Given the description of an element on the screen output the (x, y) to click on. 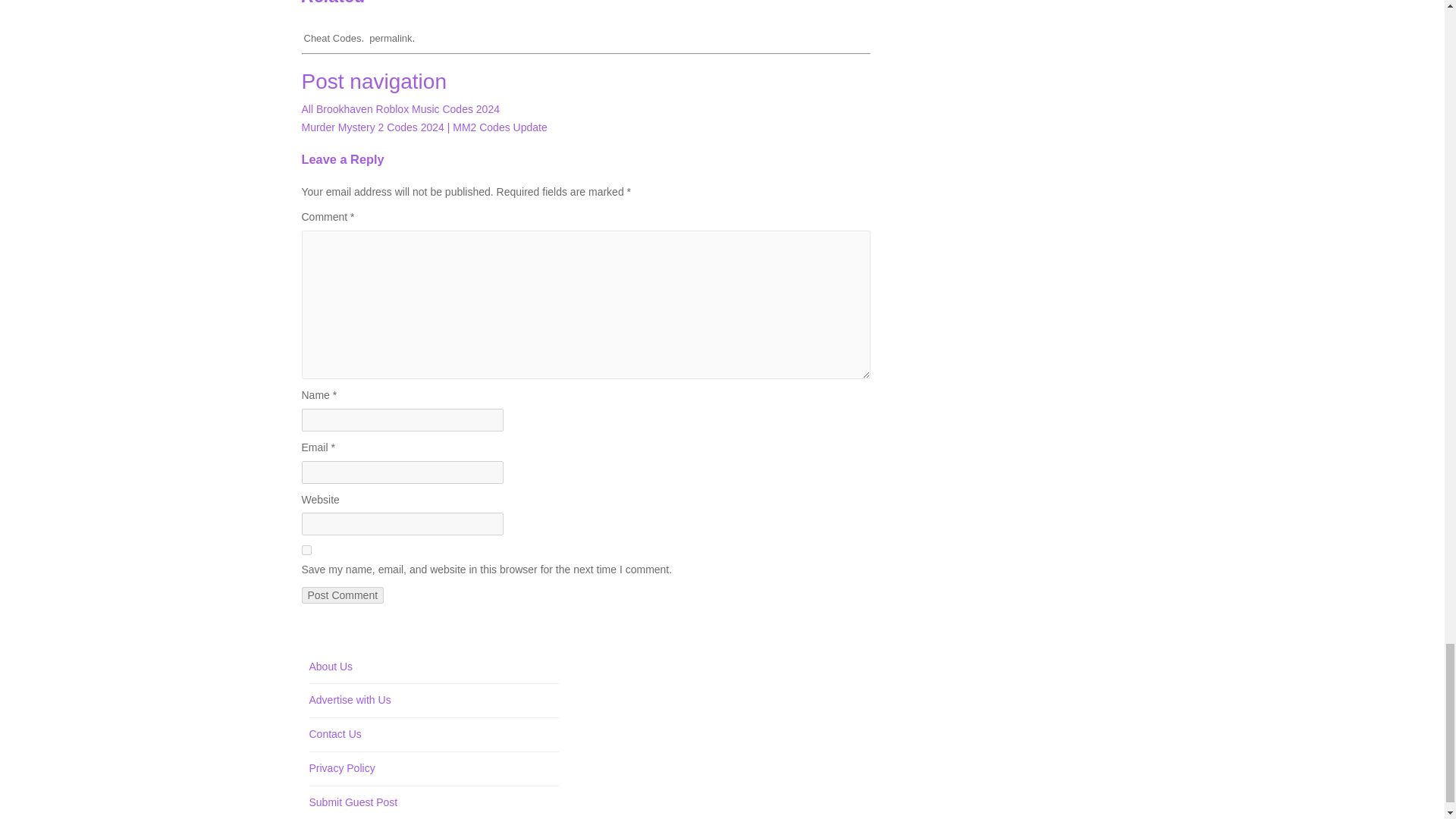
Post Comment (342, 595)
permalink (390, 38)
yes (306, 550)
Cheat Codes (331, 38)
About Us (330, 666)
All Brookhaven Roblox Music Codes 2024 (400, 109)
Post Comment (342, 595)
